Given the description of an element on the screen output the (x, y) to click on. 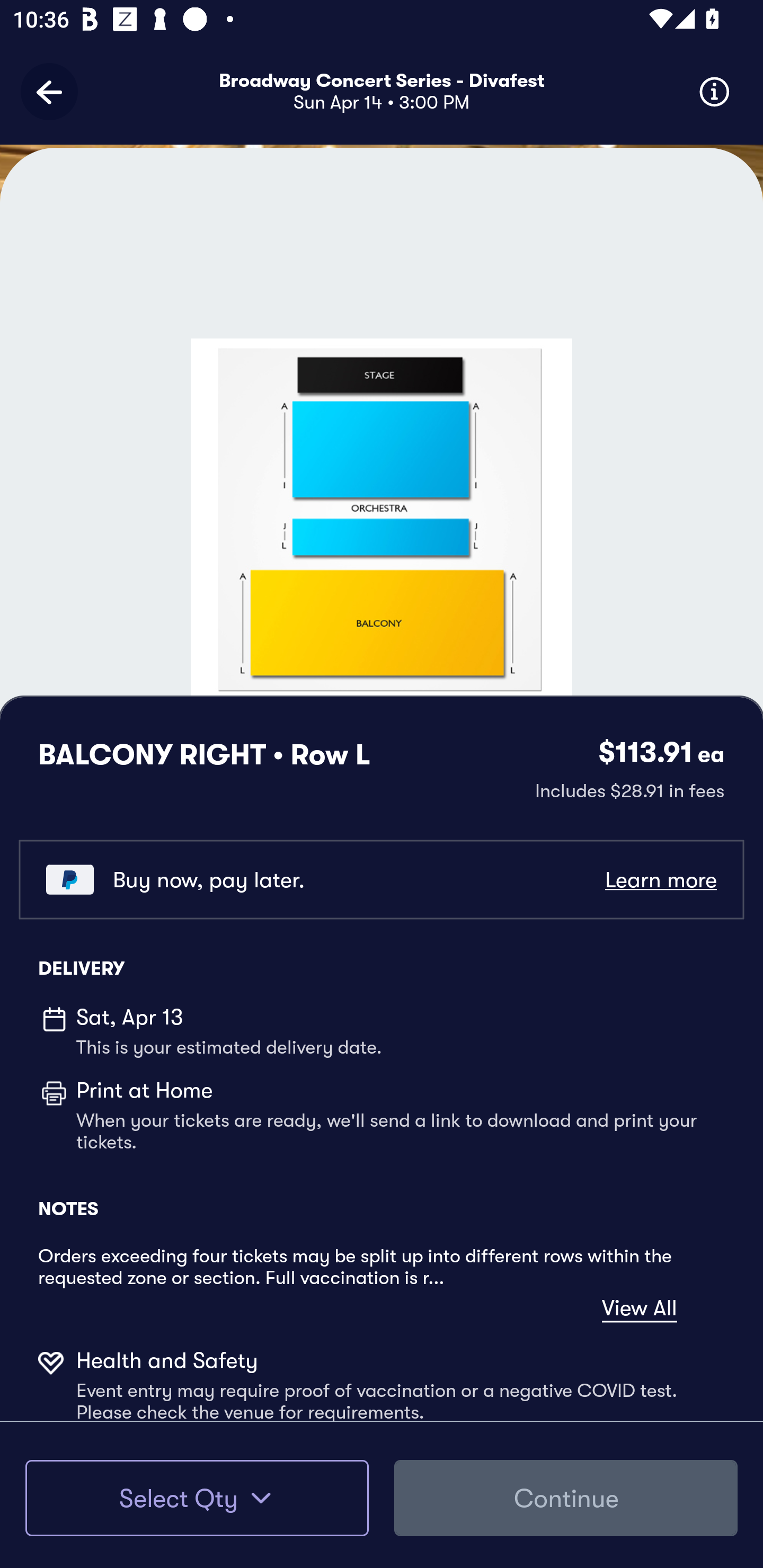
Learn more (660, 880)
View All (639, 1308)
Select Qty (196, 1497)
Continue (565, 1497)
